Given the description of an element on the screen output the (x, y) to click on. 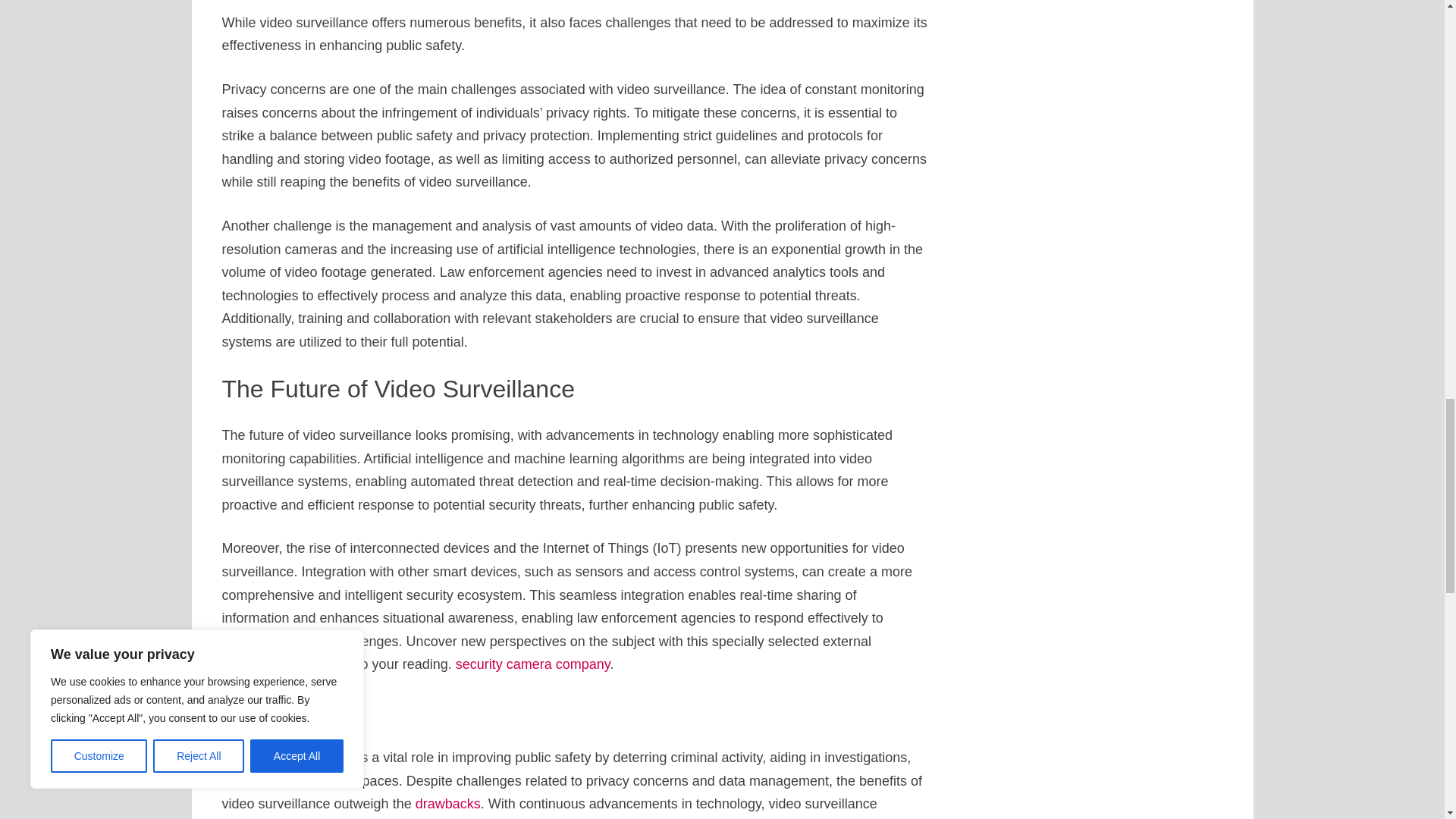
drawbacks (447, 803)
security camera company (532, 663)
